Given the description of an element on the screen output the (x, y) to click on. 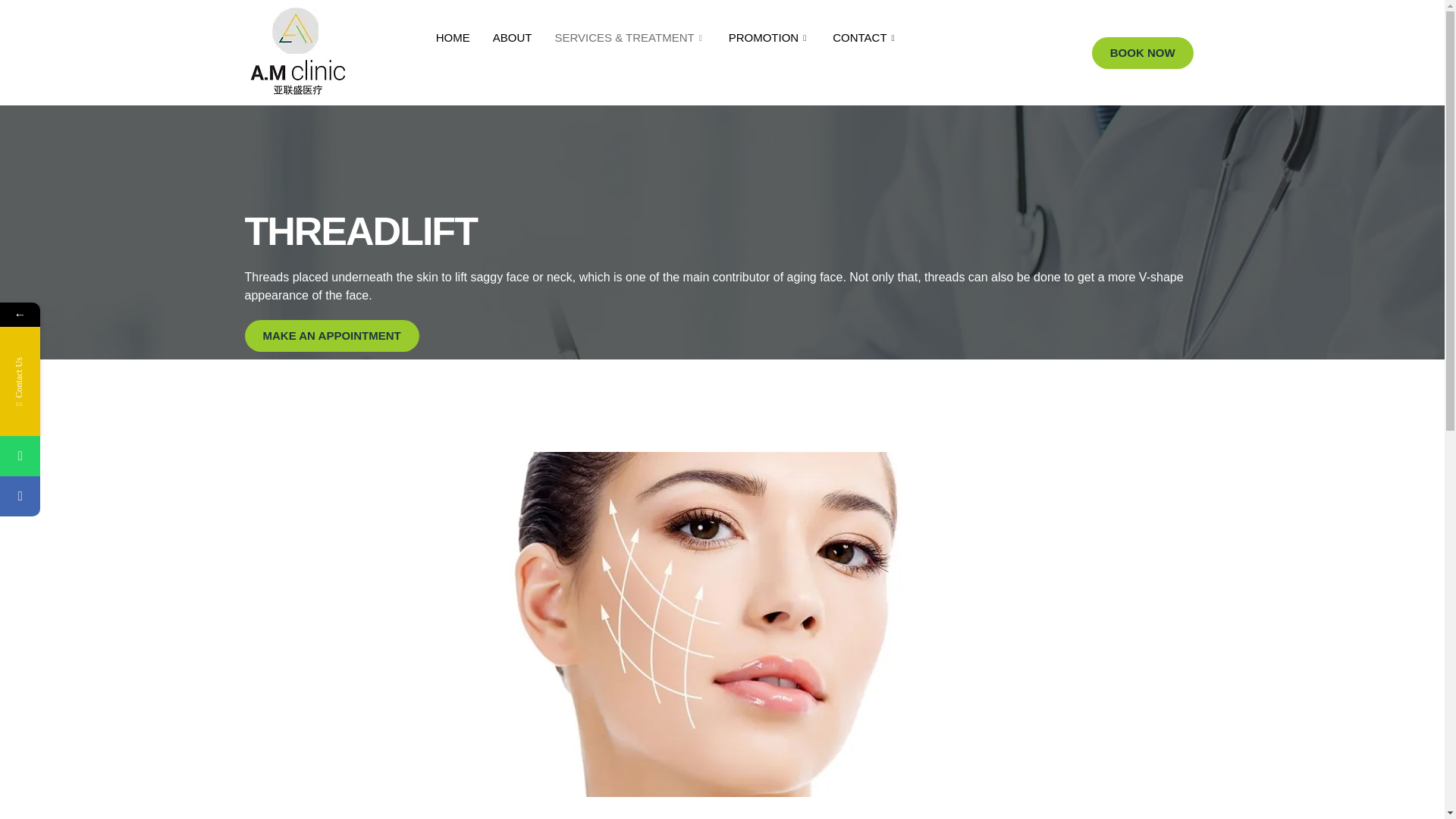
HOME (453, 37)
PROMOTION (769, 37)
CONTACT (864, 37)
ABOUT (512, 37)
BOOK NOW (1142, 51)
